Given the description of an element on the screen output the (x, y) to click on. 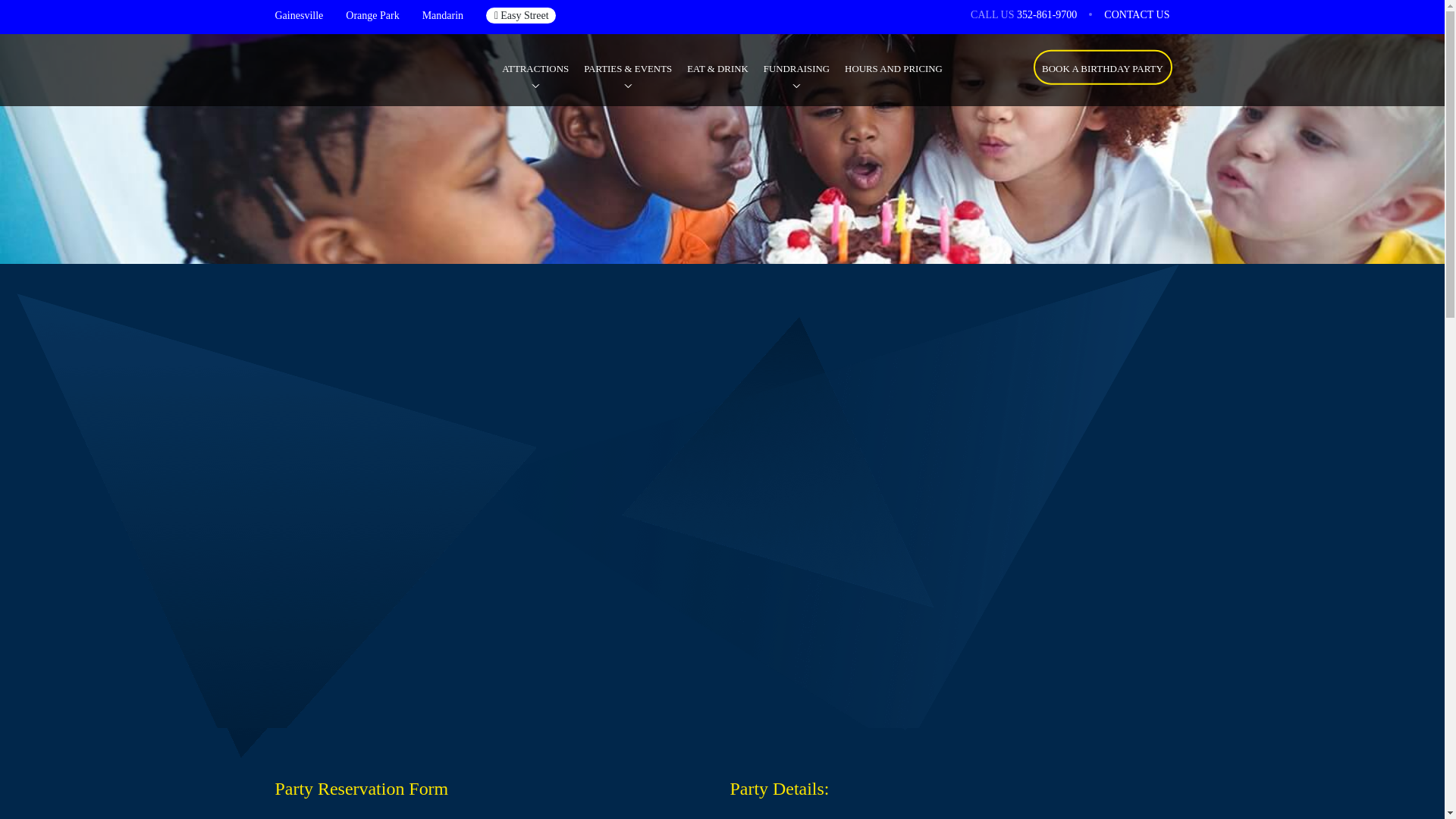
Mandarin (442, 15)
ATTRACTIONS (535, 68)
Gainesville (299, 15)
Orange Park (372, 15)
CONTACT US (1136, 14)
HOURS AND PRICING (893, 68)
352-861-9700 (1046, 14)
BOOK A BIRTHDAY PARTY (1102, 67)
FUNDRAISING (795, 68)
Easy Street (521, 15)
